Given the description of an element on the screen output the (x, y) to click on. 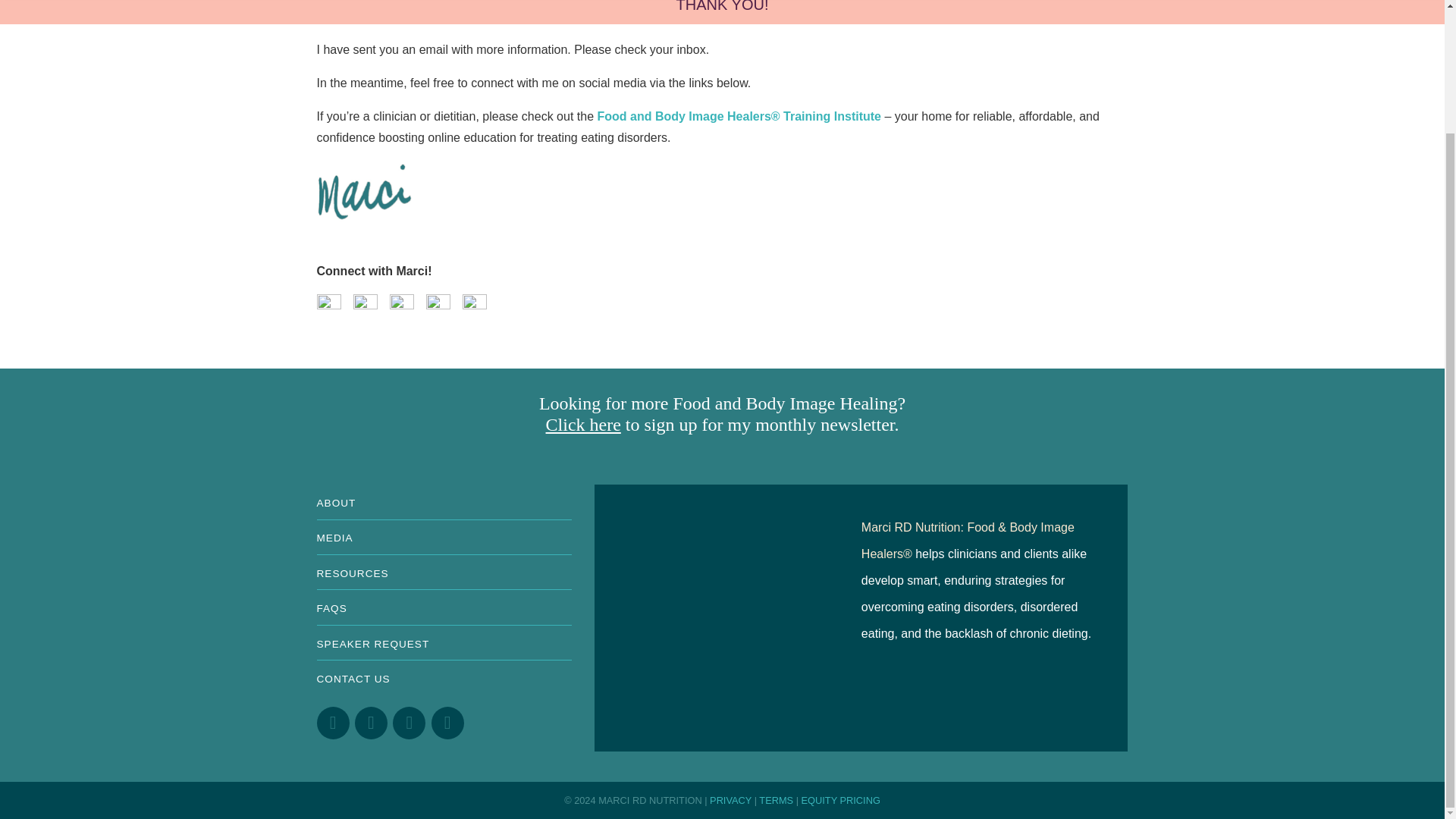
CONTACT US (444, 677)
RESOURCES (444, 571)
ABOUT (444, 501)
SPEAKER REQUEST (444, 642)
Click here (583, 424)
MEDIA (444, 537)
FAQS (444, 606)
PRIVACY (730, 799)
